Given the description of an element on the screen output the (x, y) to click on. 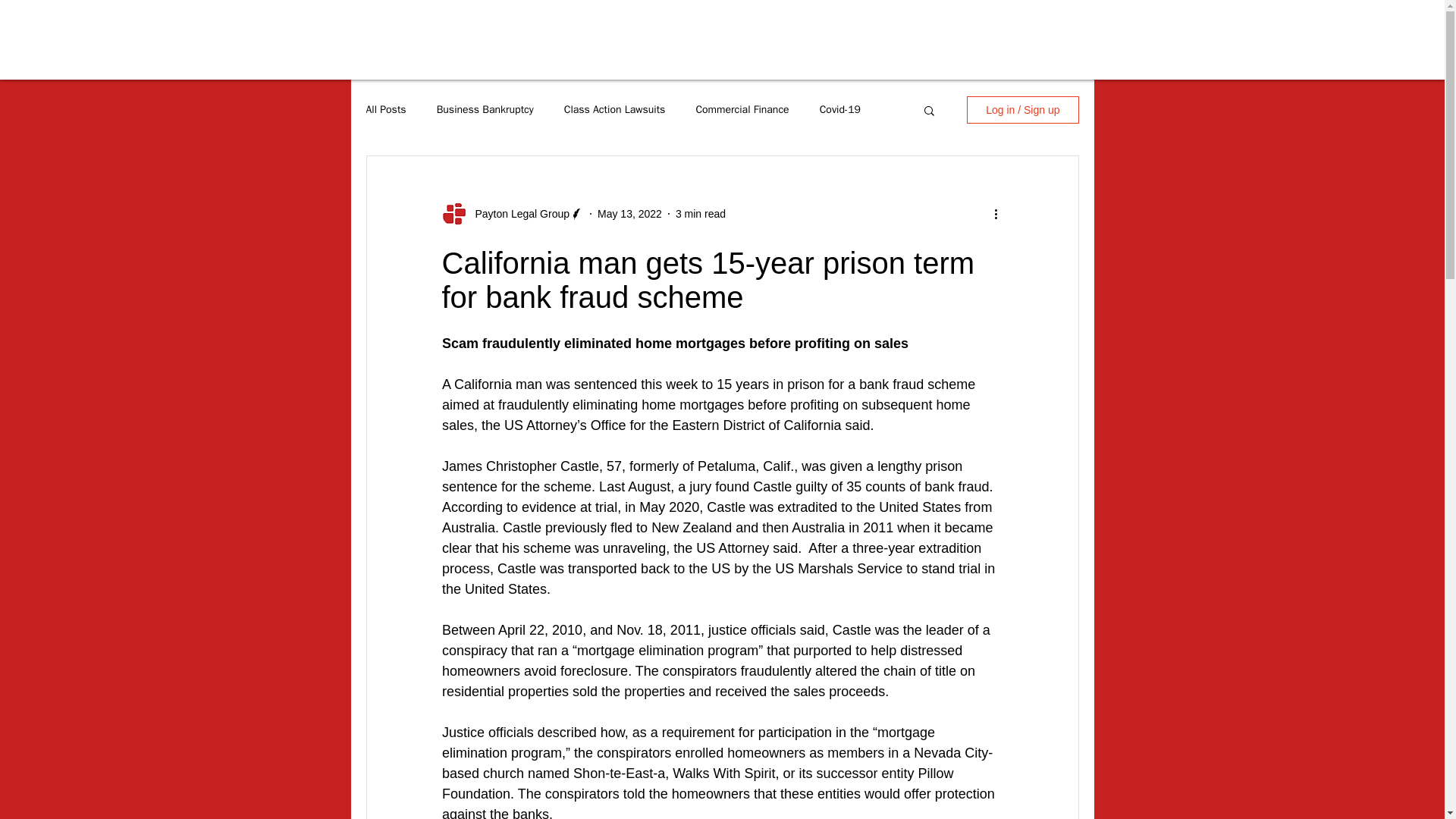
Business Bankruptcy (485, 110)
May 13, 2022 (629, 214)
All Posts (385, 110)
Payton Legal Group (517, 213)
3 min read (700, 214)
Commercial Finance (742, 110)
Class Action Lawsuits (614, 110)
Covid-19 (839, 110)
